Given the description of an element on the screen output the (x, y) to click on. 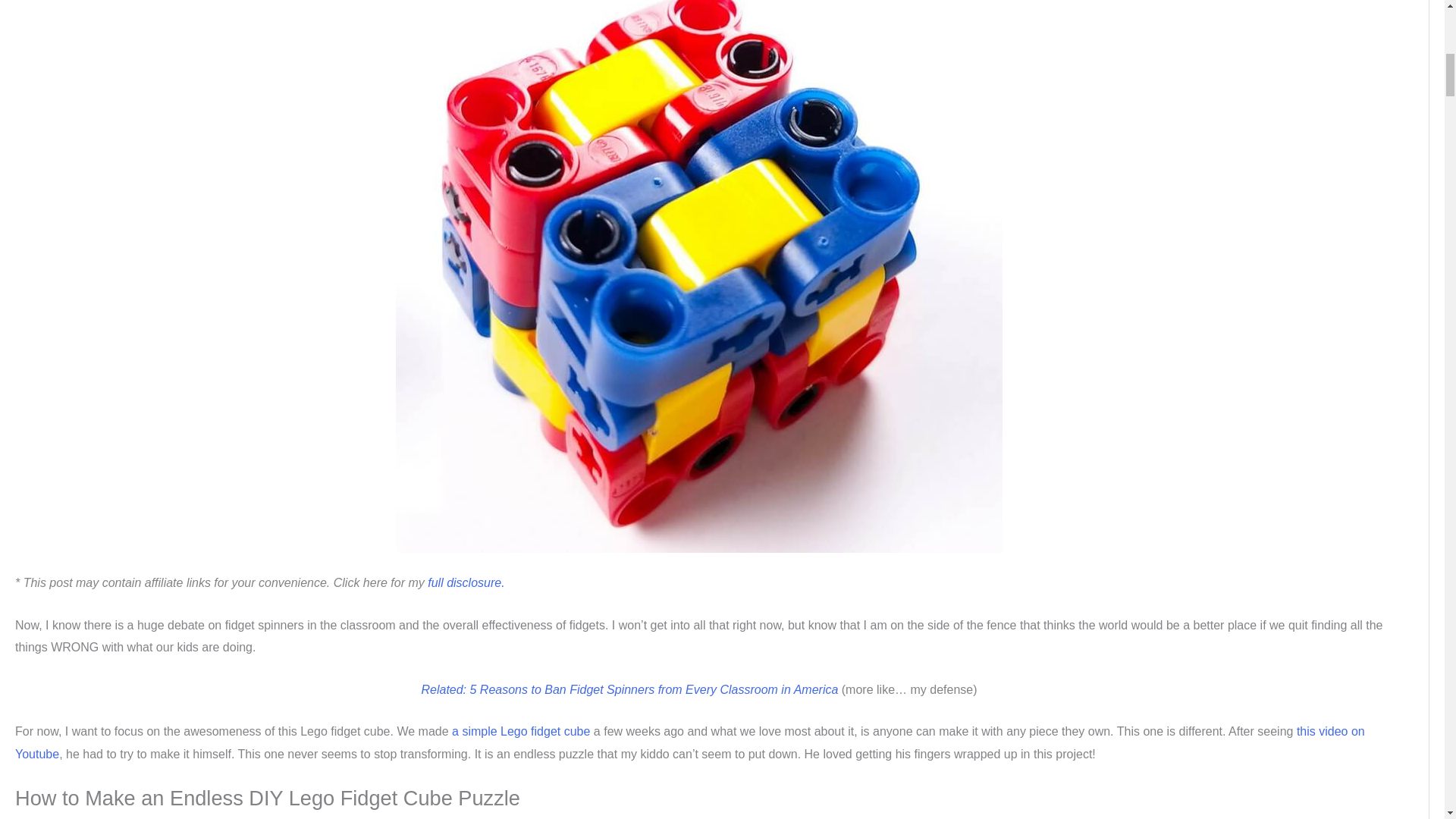
this video on Youtube (689, 742)
Copyright and Disclosure Policy (465, 582)
a simple Lego fidget cube (519, 730)
full disclosure. (465, 582)
